Given the description of an element on the screen output the (x, y) to click on. 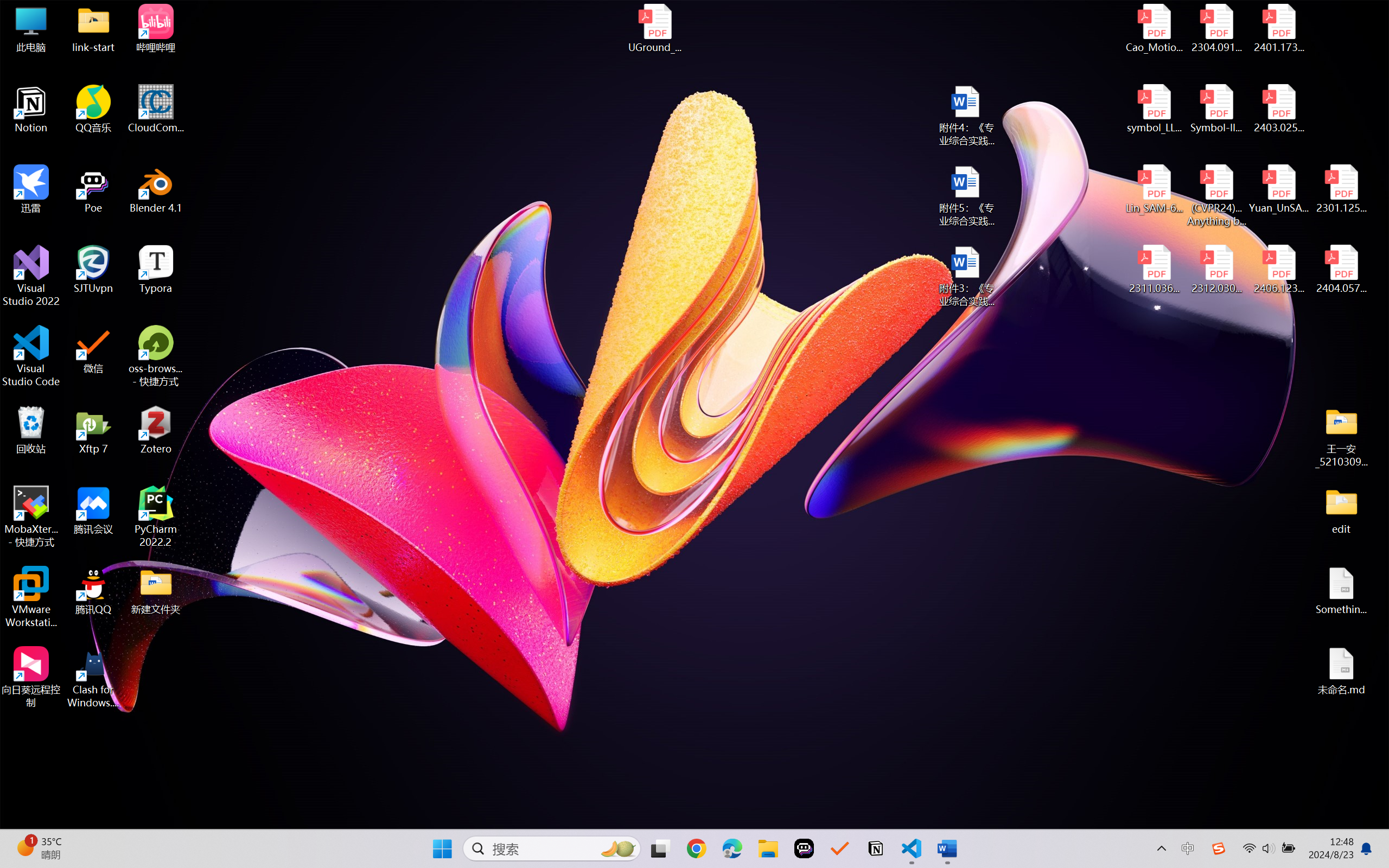
symbol_LLM.pdf (1154, 109)
2403.02502v1.pdf (1278, 109)
2311.03658v2.pdf (1154, 269)
